Given the description of an element on the screen output the (x, y) to click on. 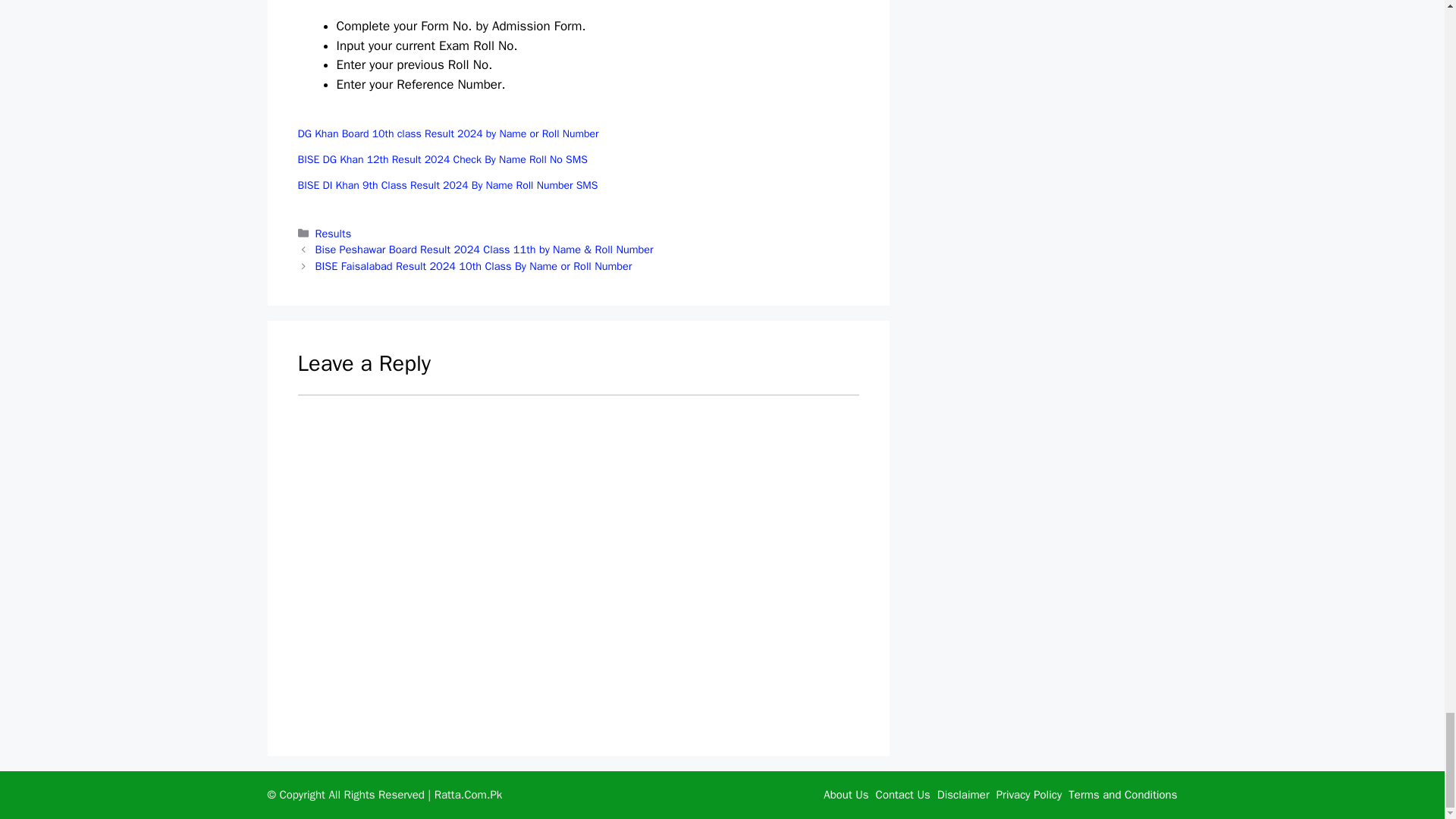
BISE DG Khan 12th Result 2024 Check By Name Roll No SMS (441, 159)
Terms and Conditions (1122, 794)
DG Khan Board 10th class Result 2024 by Name or Roll Number (447, 133)
Privacy Policy (1028, 794)
Contact Us (903, 794)
BISE DI Khan 9th Class Result 2024 By Name Roll Number SMS (446, 185)
DG Khan Board 10th class Result 2024 by Name or Roll Number (447, 133)
BISE DG Khan 12th Result 2024 Check By Name Roll No SMS (441, 159)
BISE DI Khan 9th Class Result 2024 By Name Roll Number SMS (446, 185)
